Given the description of an element on the screen output the (x, y) to click on. 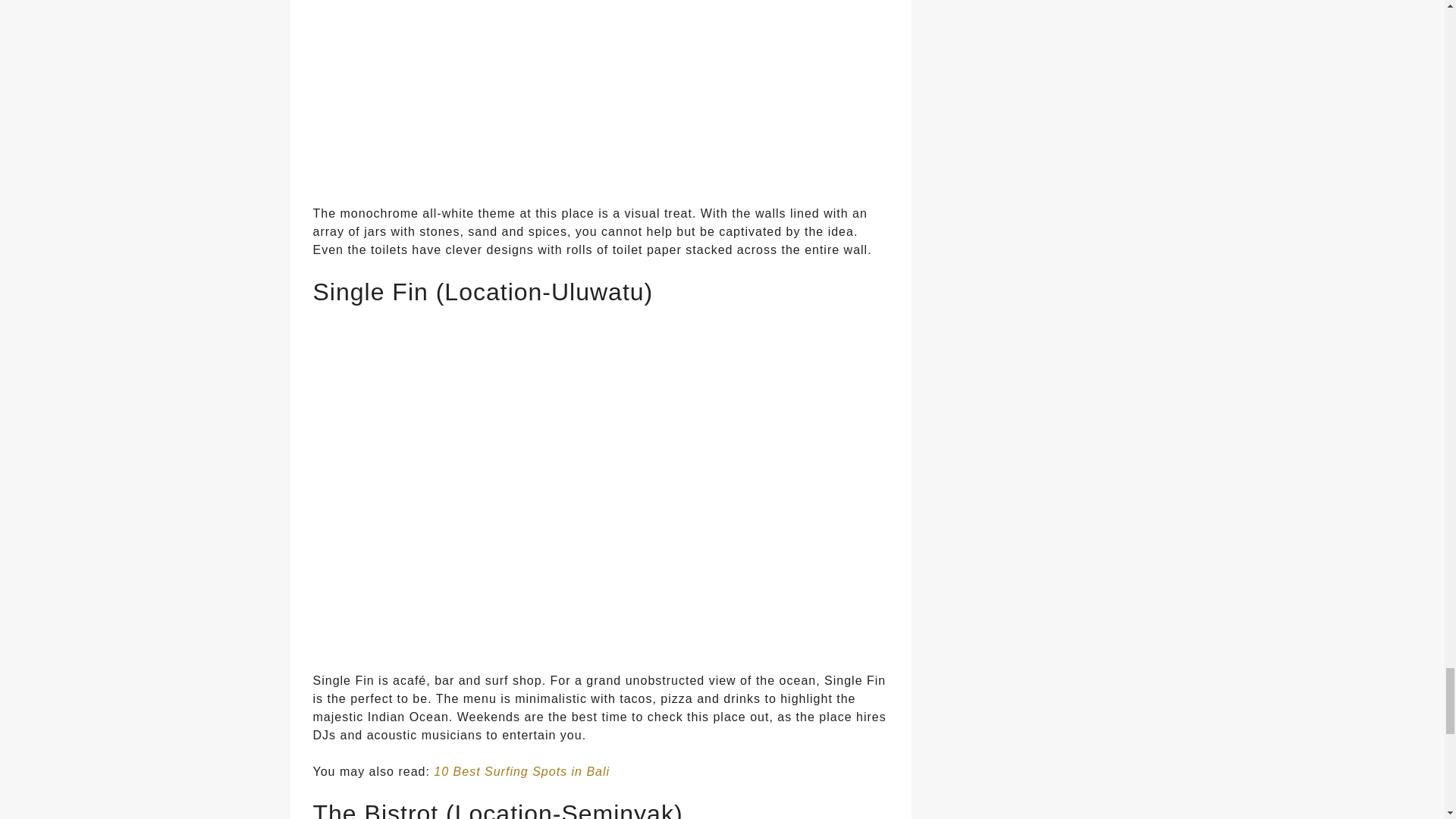
10 Best Surfing Spots in Bali (521, 771)
